Given the description of an element on the screen output the (x, y) to click on. 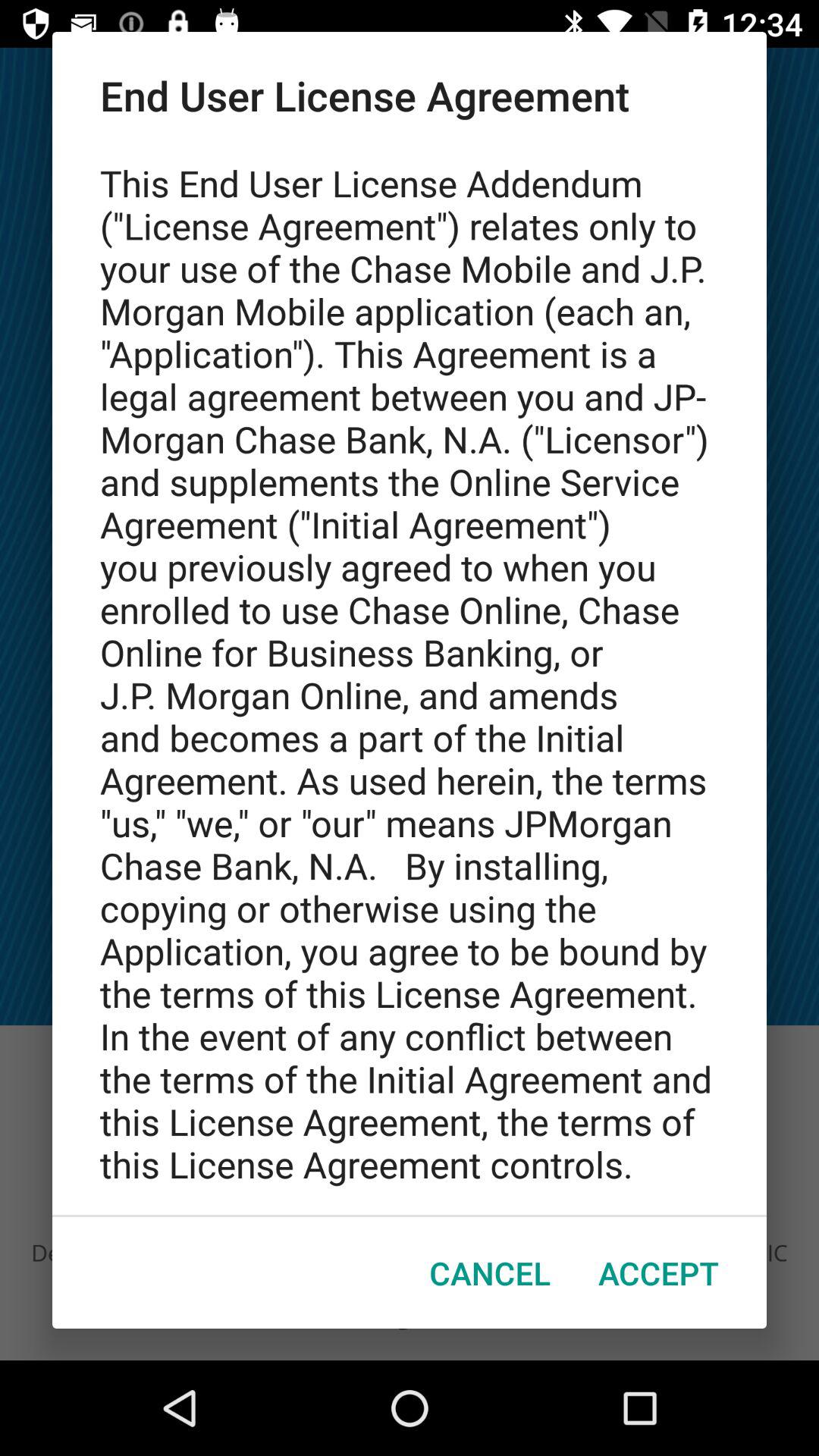
open the icon at the bottom (489, 1272)
